Given the description of an element on the screen output the (x, y) to click on. 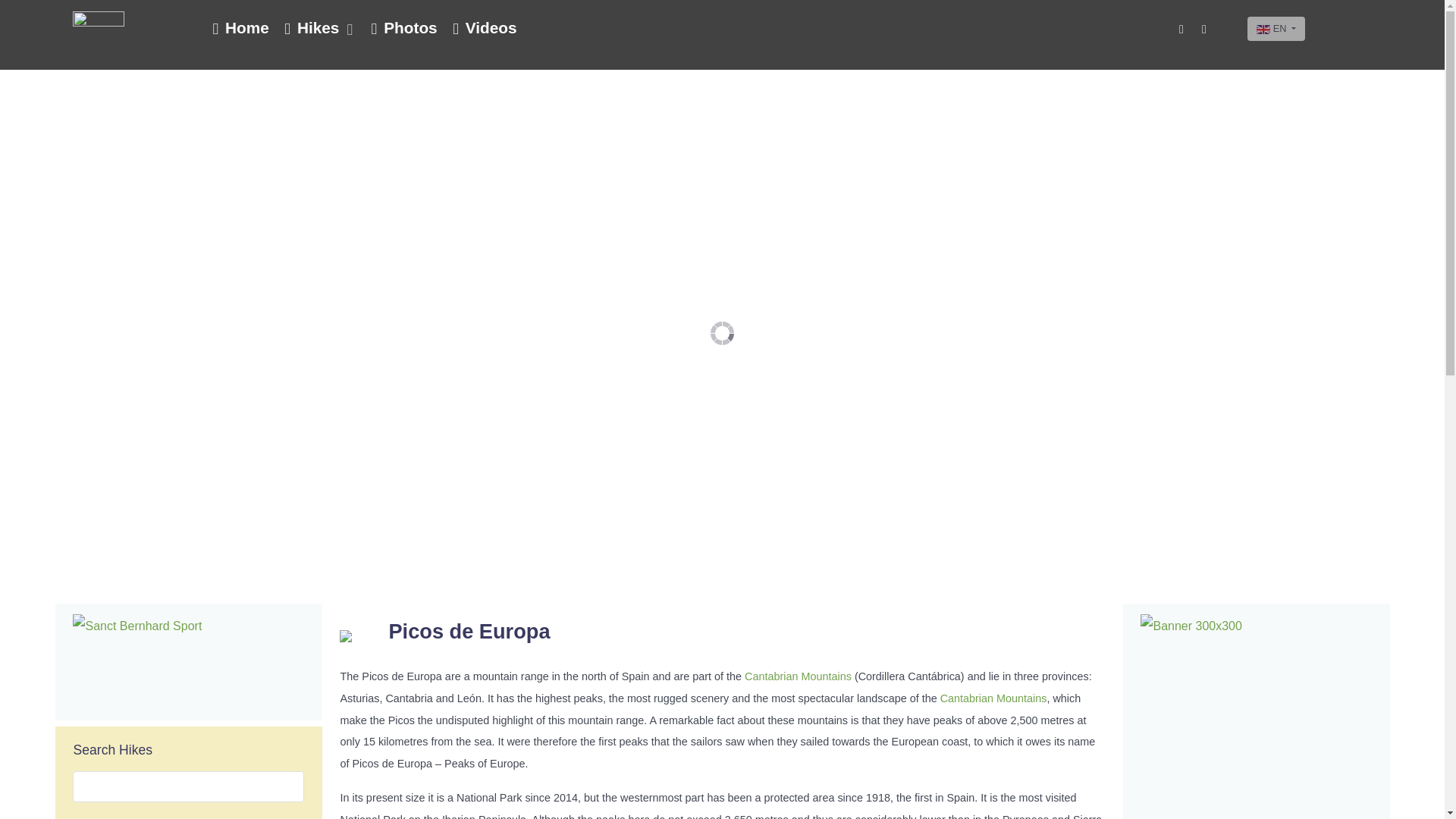
Hikes (319, 28)
Home (239, 28)
